Given the description of an element on the screen output the (x, y) to click on. 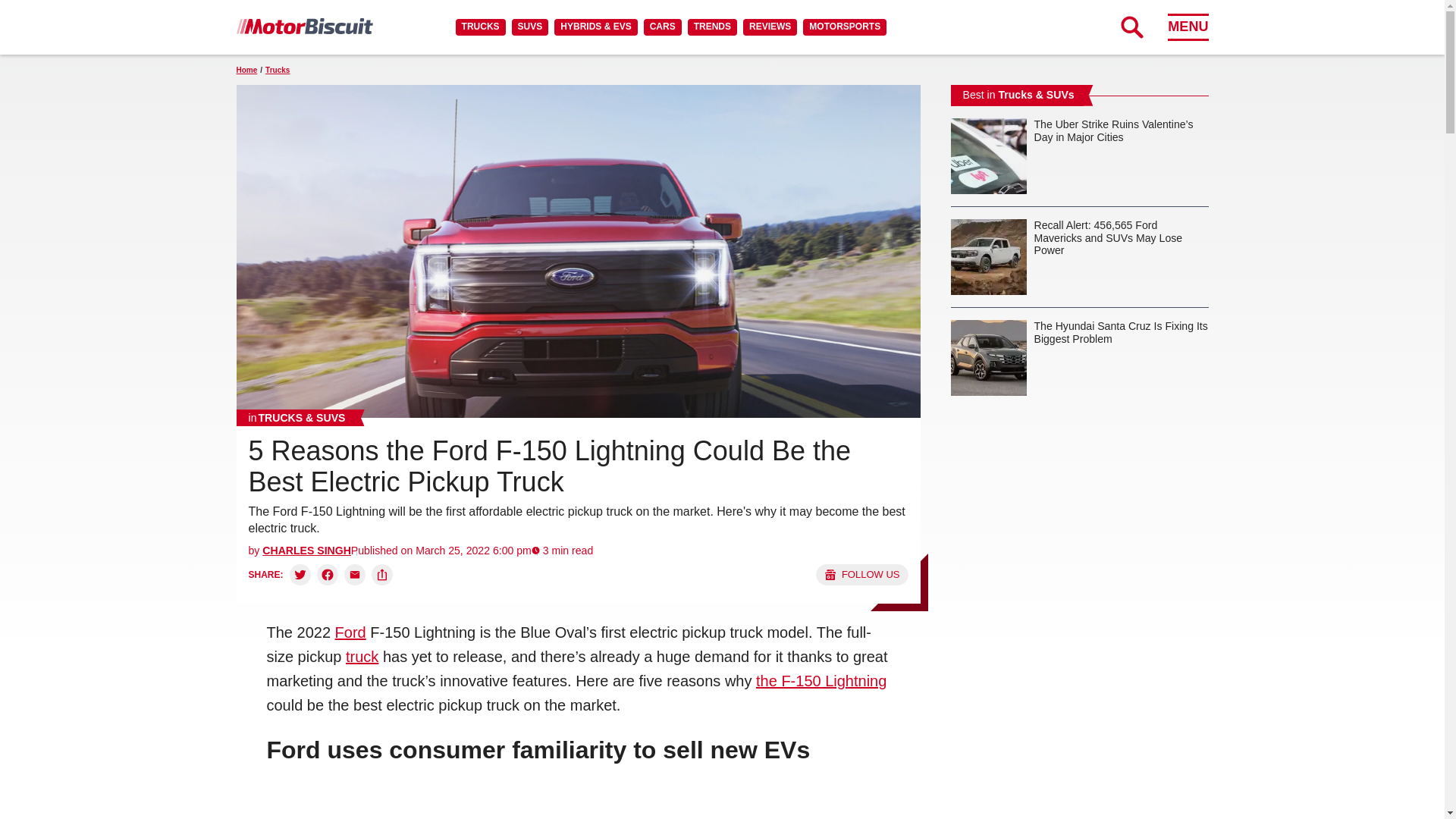
Follow us on Google News (861, 574)
Expand Search (1131, 26)
MENU (1187, 26)
REVIEWS (769, 26)
TRENDS (711, 26)
MotorBiscuit (303, 26)
Copy link and share:  (382, 574)
TRUCKS (480, 26)
